Given the description of an element on the screen output the (x, y) to click on. 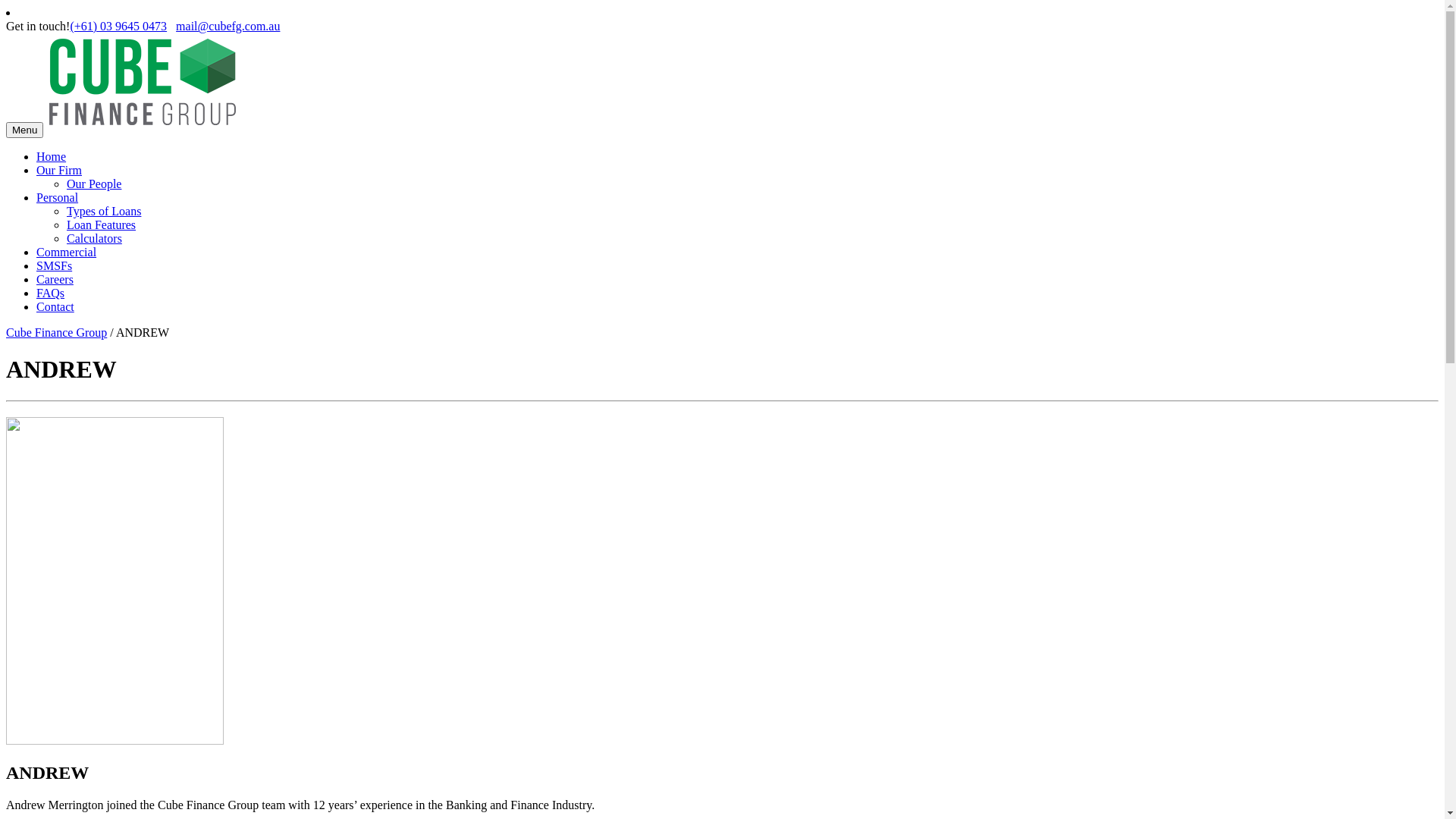
Contact Element type: text (55, 306)
Loan Features Element type: text (100, 224)
mail@cubefg.com.au Element type: text (227, 25)
Careers Element type: text (54, 279)
Home Element type: text (50, 156)
Types of Loans Element type: text (103, 210)
(+61) 03 9645 0473 Element type: text (117, 25)
Cube Finance Group Element type: text (56, 332)
Menu Element type: text (24, 130)
Our Firm Element type: text (58, 169)
SMSFs Element type: text (54, 265)
Personal Element type: text (57, 197)
Calculators Element type: text (94, 238)
Commercial Element type: text (66, 251)
Our People Element type: text (93, 183)
FAQs Element type: text (50, 292)
